Given the description of an element on the screen output the (x, y) to click on. 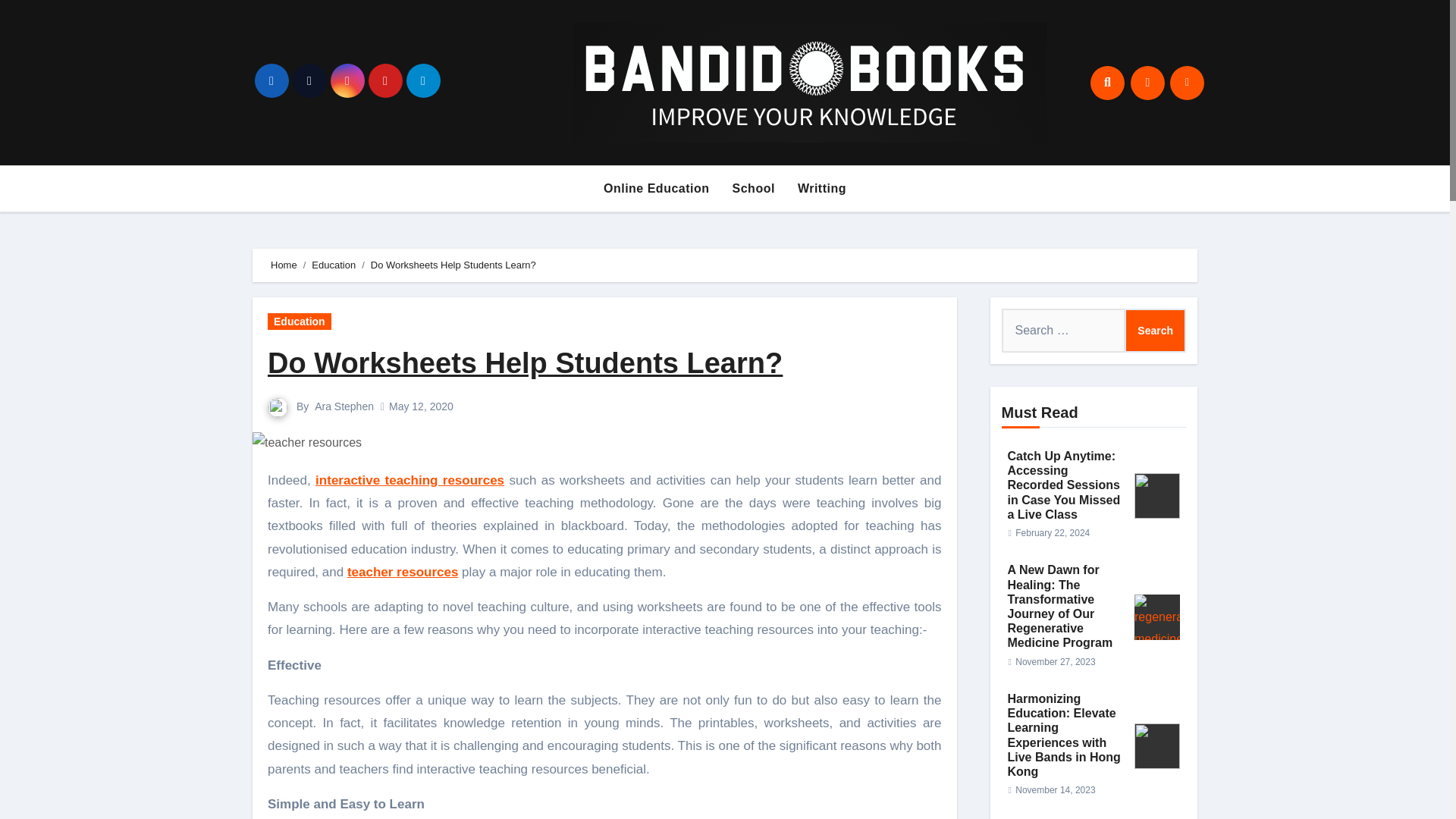
Search (1155, 330)
Search (1155, 330)
Writting (821, 188)
School (753, 188)
Permalink to: Do Worksheets Help Students Learn? (525, 363)
Online Education (656, 188)
Education (333, 265)
Do Worksheets Help Students Learn? (525, 363)
Education (299, 321)
teacher resources (402, 572)
